Given the description of an element on the screen output the (x, y) to click on. 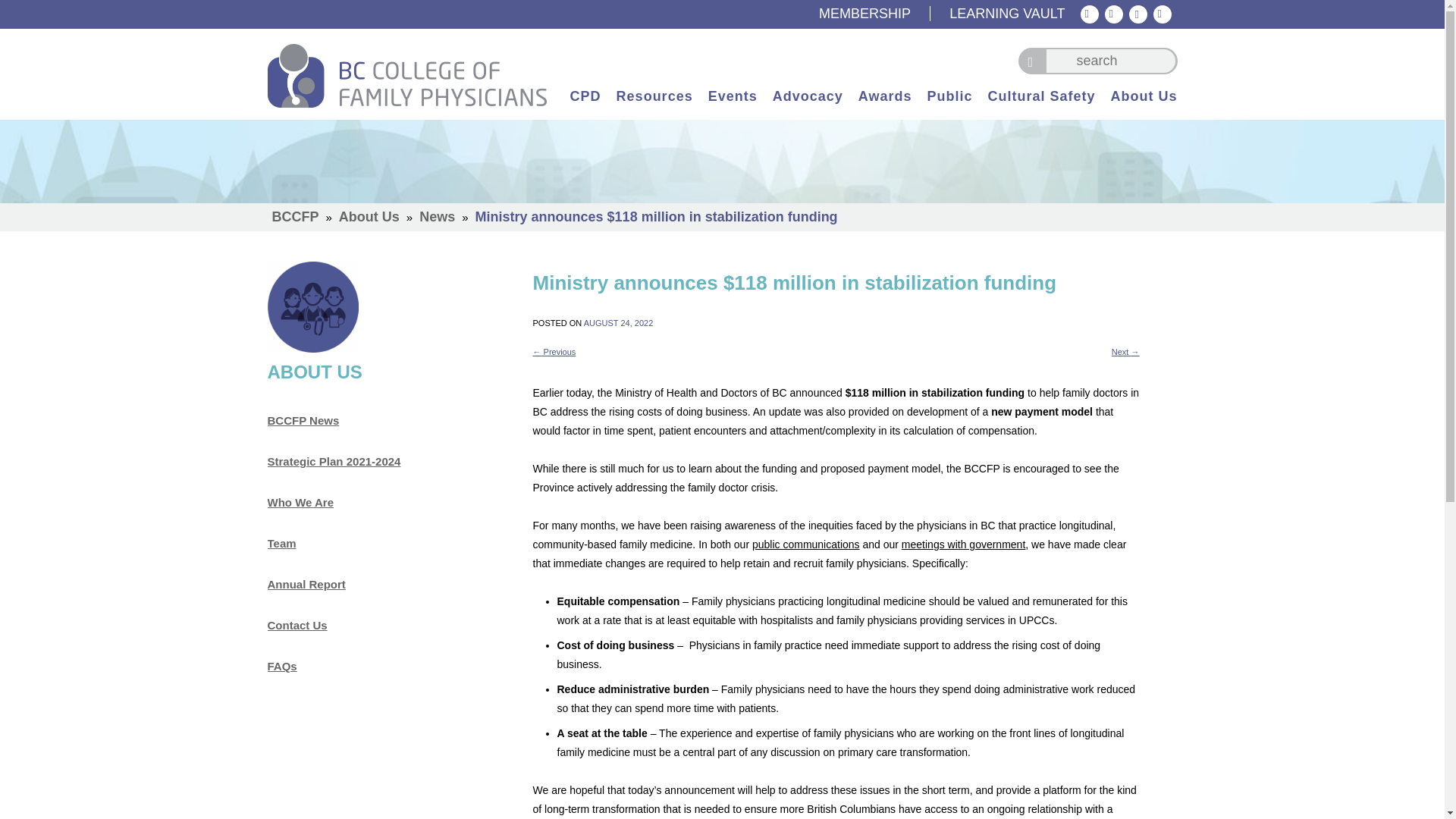
Search (1030, 60)
MEMBERSHIP (874, 13)
Advocacy (808, 103)
Events (732, 103)
LEARNING VAULT (1006, 13)
Awards (885, 103)
Resources (654, 103)
twitter (1088, 13)
Go to BCCFP. (295, 217)
Search (1030, 60)
Go to the About Us category archives. (368, 217)
instagram (1161, 13)
3:40 pm (618, 322)
facebook (1137, 13)
CPD (585, 103)
